Given the description of an element on the screen output the (x, y) to click on. 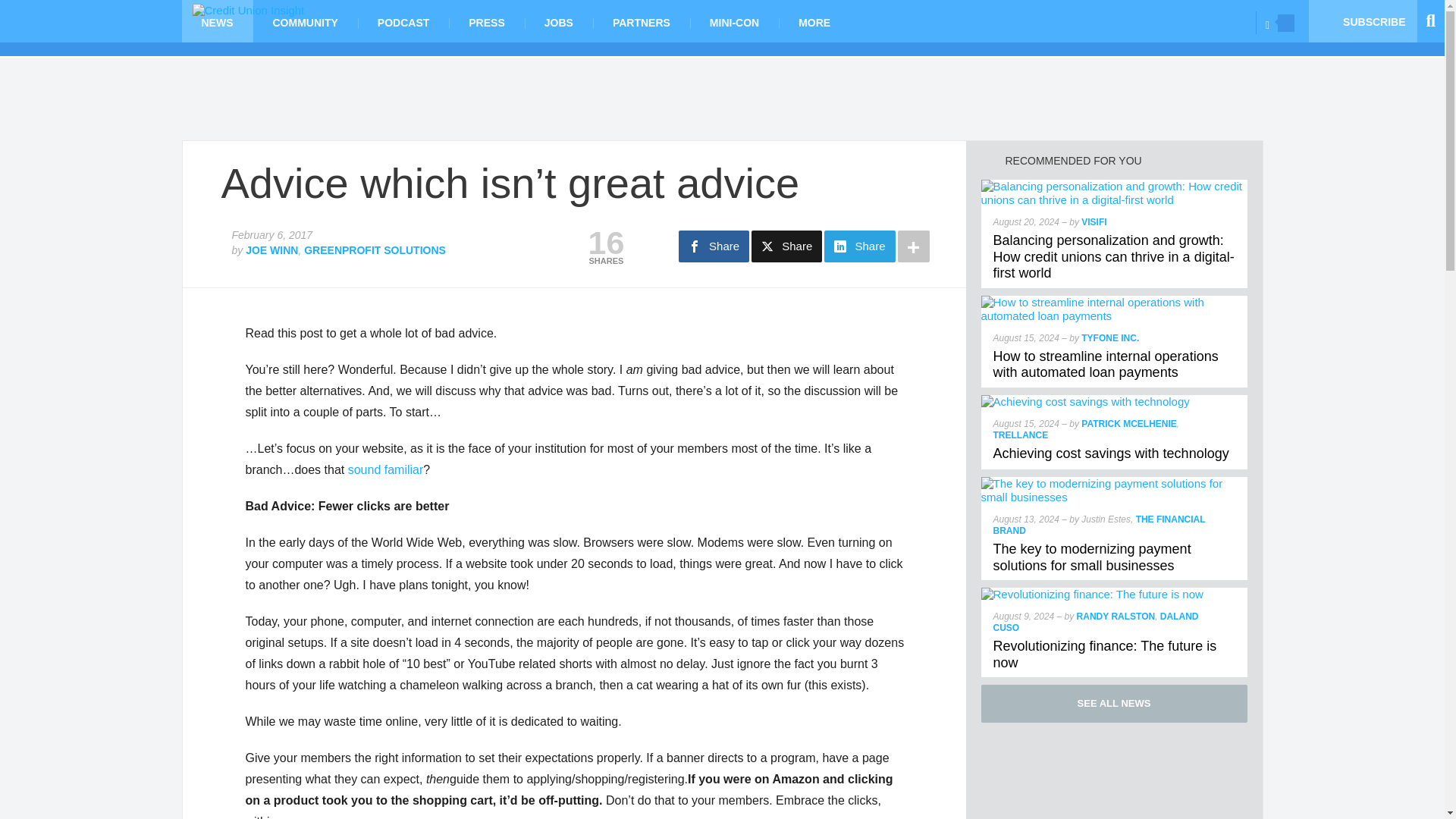
JOBS (558, 21)
Achieving cost savings with technology (1085, 400)
MORE (814, 21)
Share (786, 246)
NEWS (217, 21)
Share (713, 246)
MINI-CON (734, 21)
GREENPROFIT SOLUTIONS (374, 250)
